Given the description of an element on the screen output the (x, y) to click on. 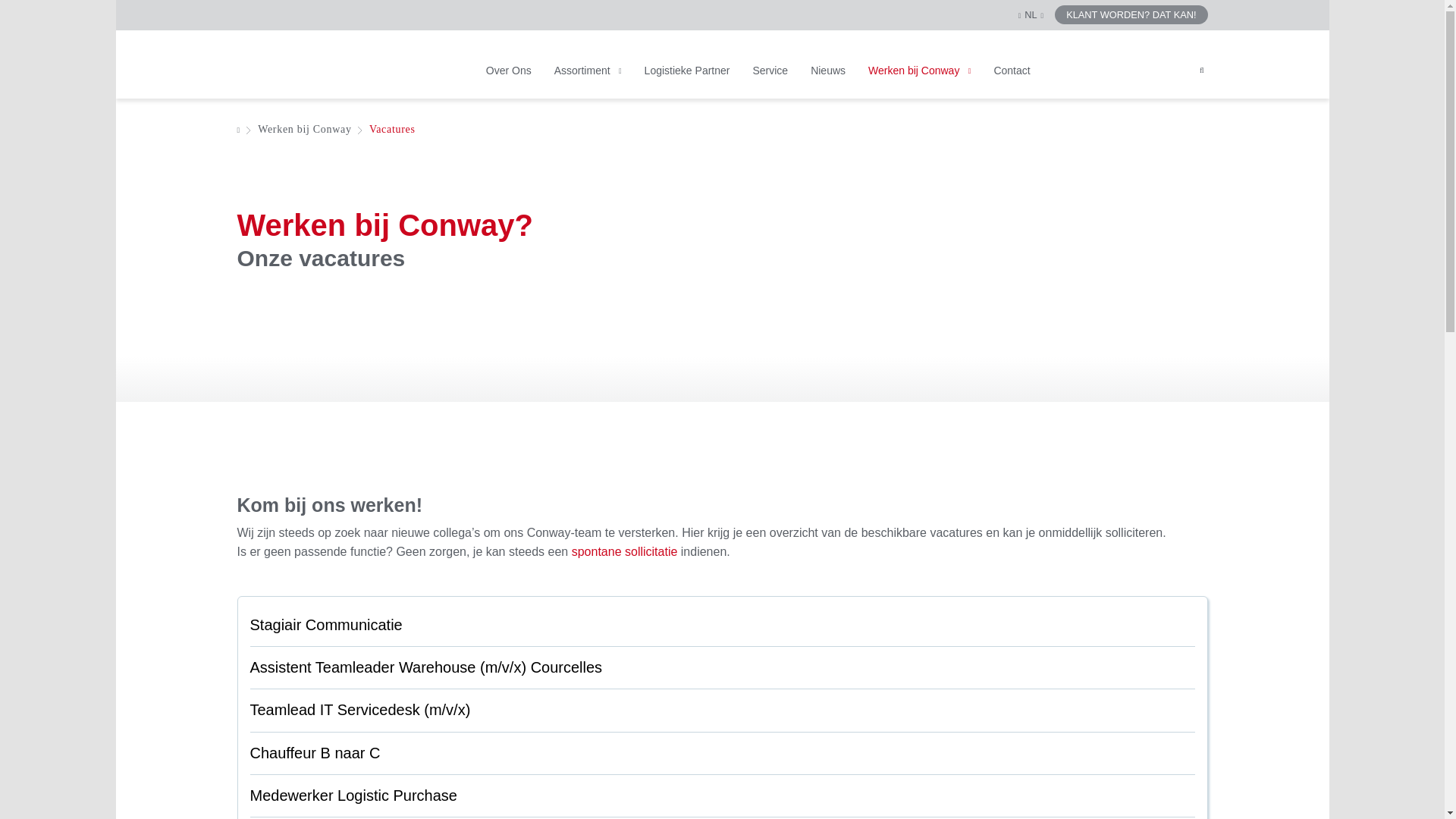
Over Ons Element type: text (508, 81)
Nieuws Element type: text (827, 81)
Logistieke Partner Element type: text (687, 81)
Contact Element type: text (1011, 81)
Assortiment Element type: text (587, 81)
spontane sollicitatie Element type: text (622, 551)
Werken bij Conway Element type: text (919, 81)
Service Element type: text (769, 81)
KLANT WORDEN? DAT KAN! Element type: text (1130, 13)
Werken bij Conway Element type: text (304, 128)
